Given the description of an element on the screen output the (x, y) to click on. 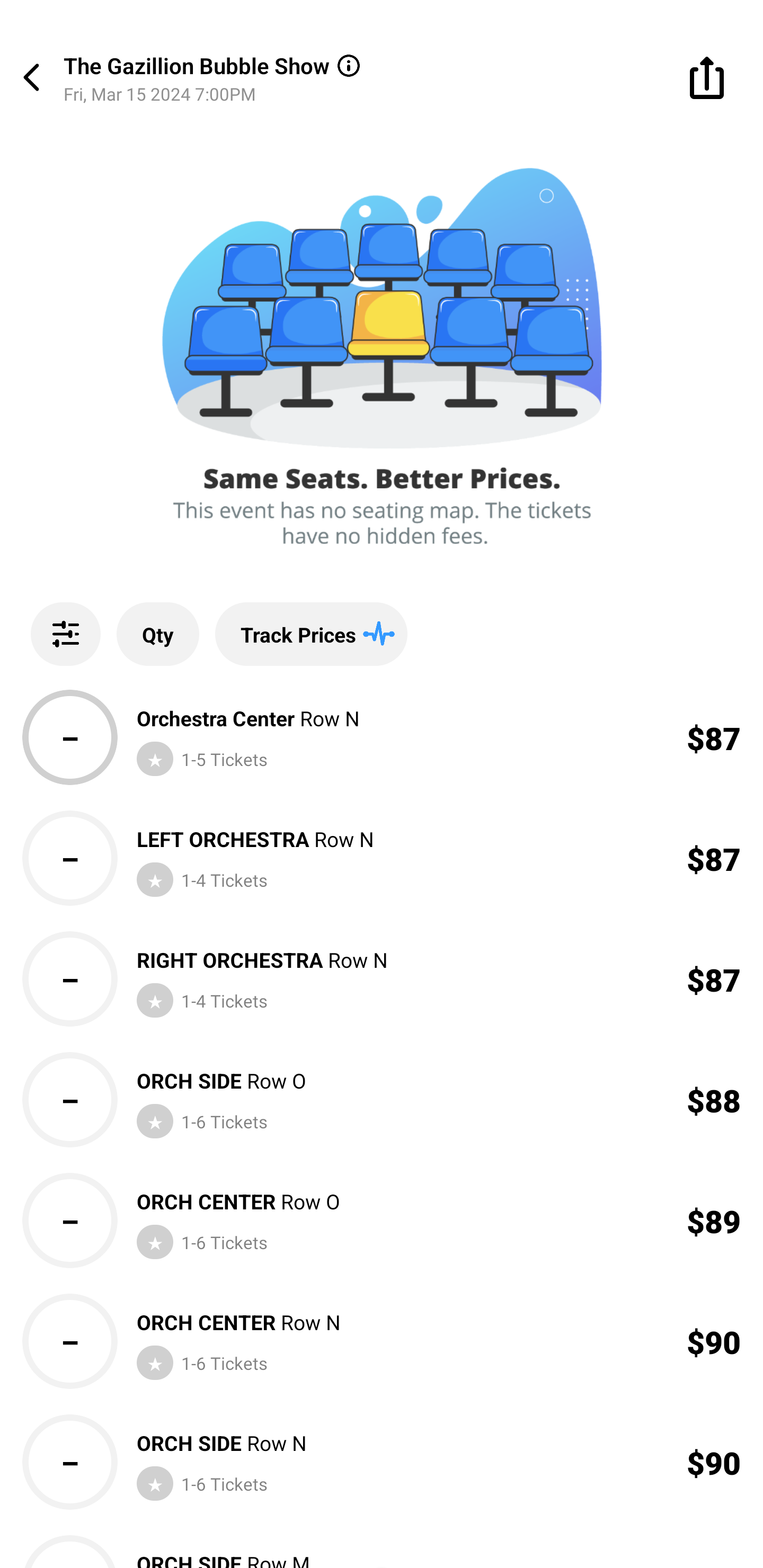
Qty (157, 634)
Track Prices (311, 634)
